Given the description of an element on the screen output the (x, y) to click on. 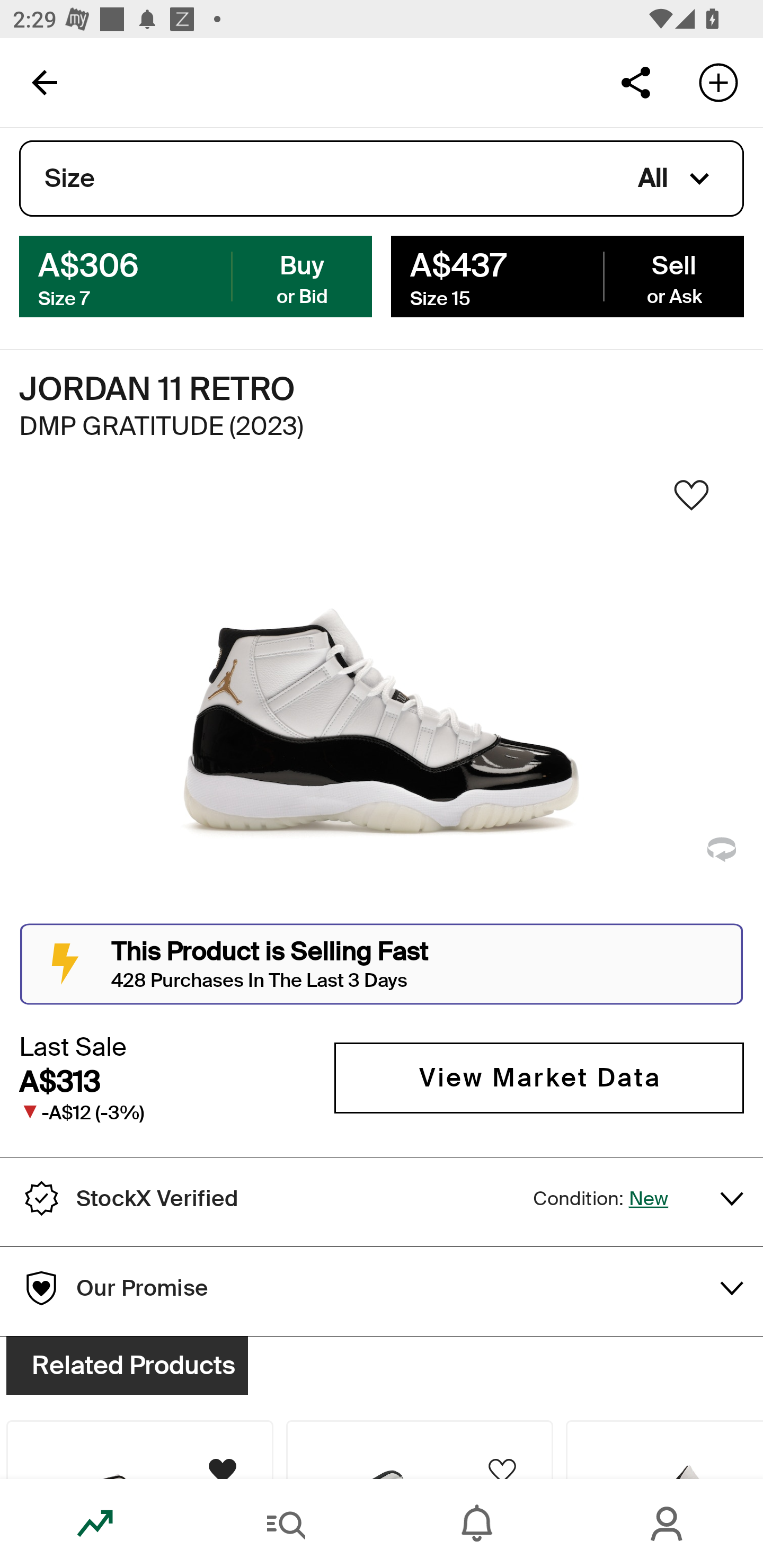
Share (635, 81)
Add (718, 81)
Size All (381, 178)
A$210 Buy Size 4.5 or Bid (195, 275)
A$407 Sell Size 14 or Ask (566, 275)
Sneaker Image (381, 699)
View Market Data (538, 1077)
Search (285, 1523)
Inbox (476, 1523)
Account (667, 1523)
